Given the description of an element on the screen output the (x, y) to click on. 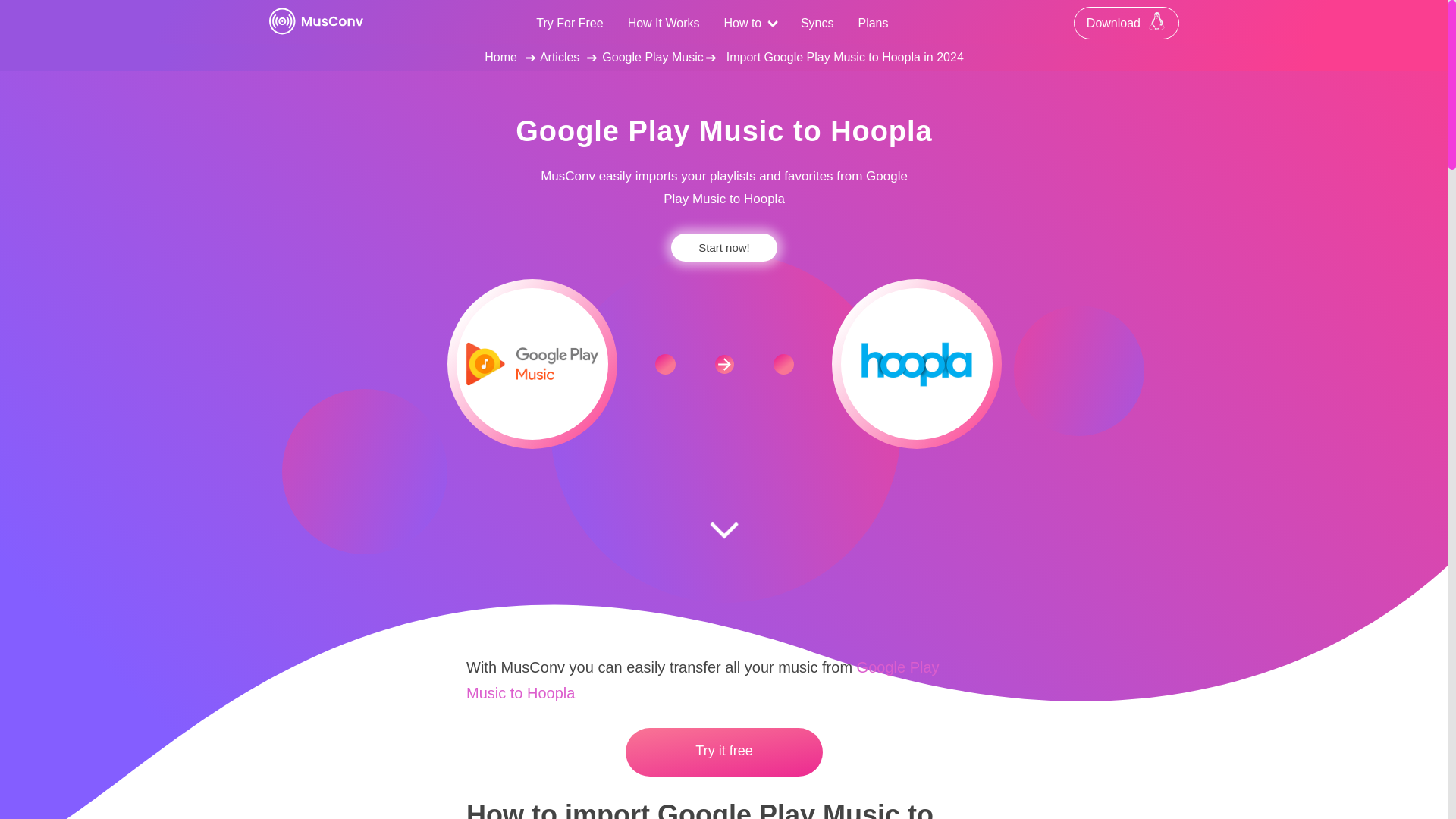
Articles (559, 57)
How to (749, 22)
Plans (872, 23)
Try For Free (568, 23)
Try it free (724, 752)
Home (500, 57)
Google Play Music (652, 57)
Syncs (817, 23)
Go to the Articles category archives. (559, 57)
Go to Home. (500, 57)
Download (1126, 22)
Google Play Music to Hoopla (702, 680)
Go to the Google Play Music category archives. (652, 57)
How It Works (663, 23)
Start now! (724, 247)
